Given the description of an element on the screen output the (x, y) to click on. 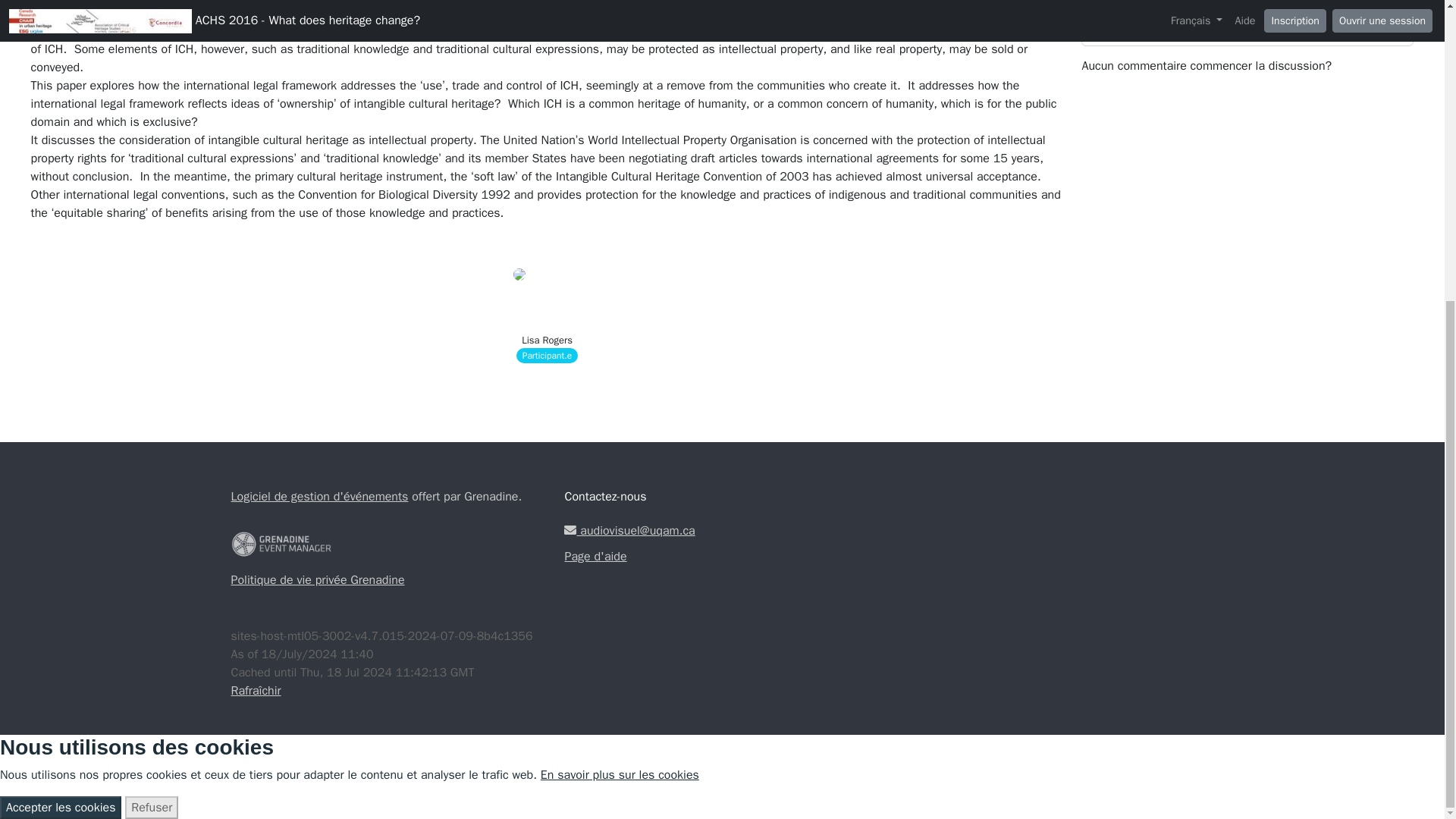
Lisa Rogers (546, 340)
